Given the description of an element on the screen output the (x, y) to click on. 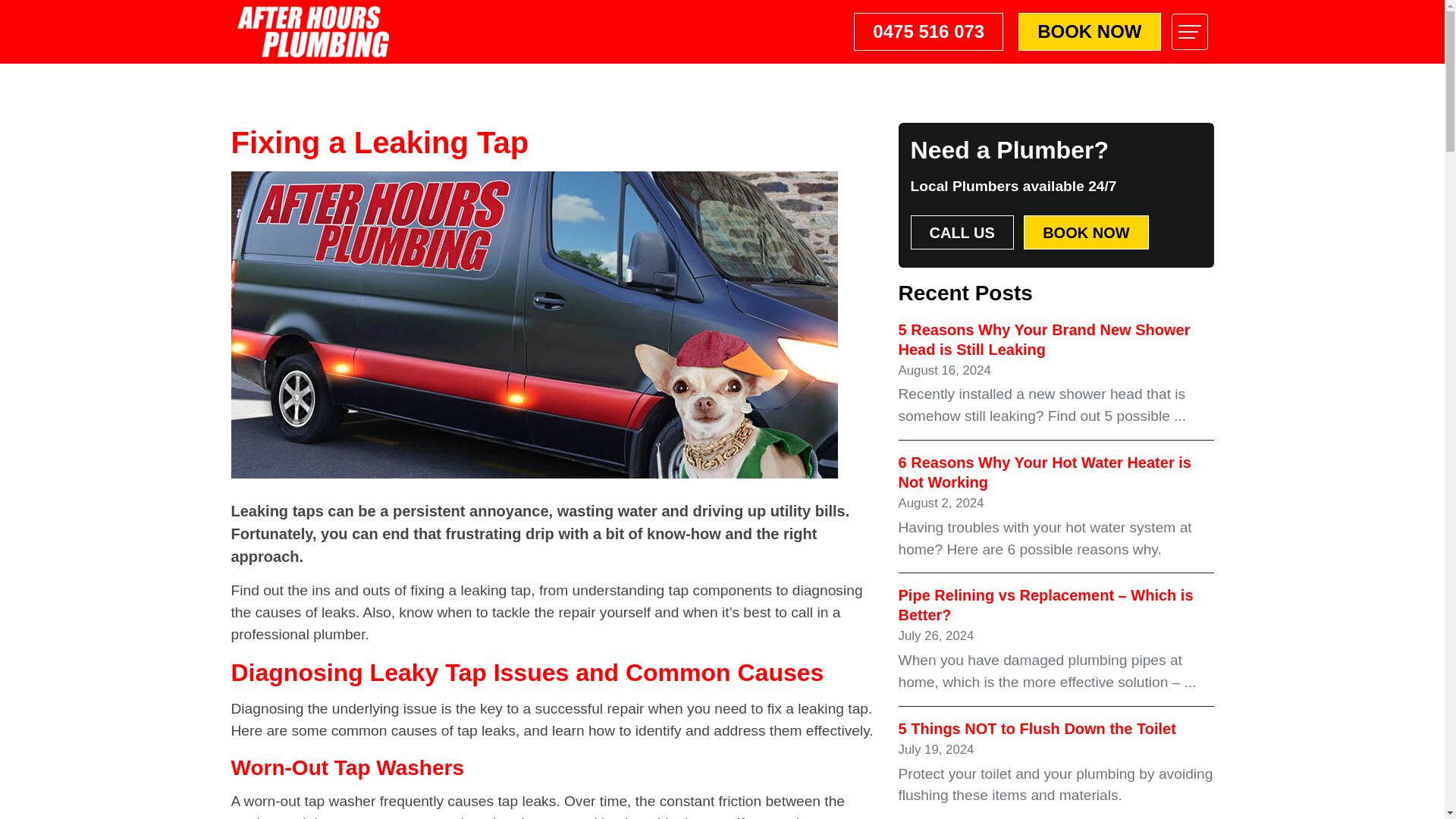
BOOK NOW (1088, 32)
Menu (1188, 31)
CALL US (962, 232)
0475 516 073 (928, 32)
BOOK NOW (1085, 232)
